Given the description of an element on the screen output the (x, y) to click on. 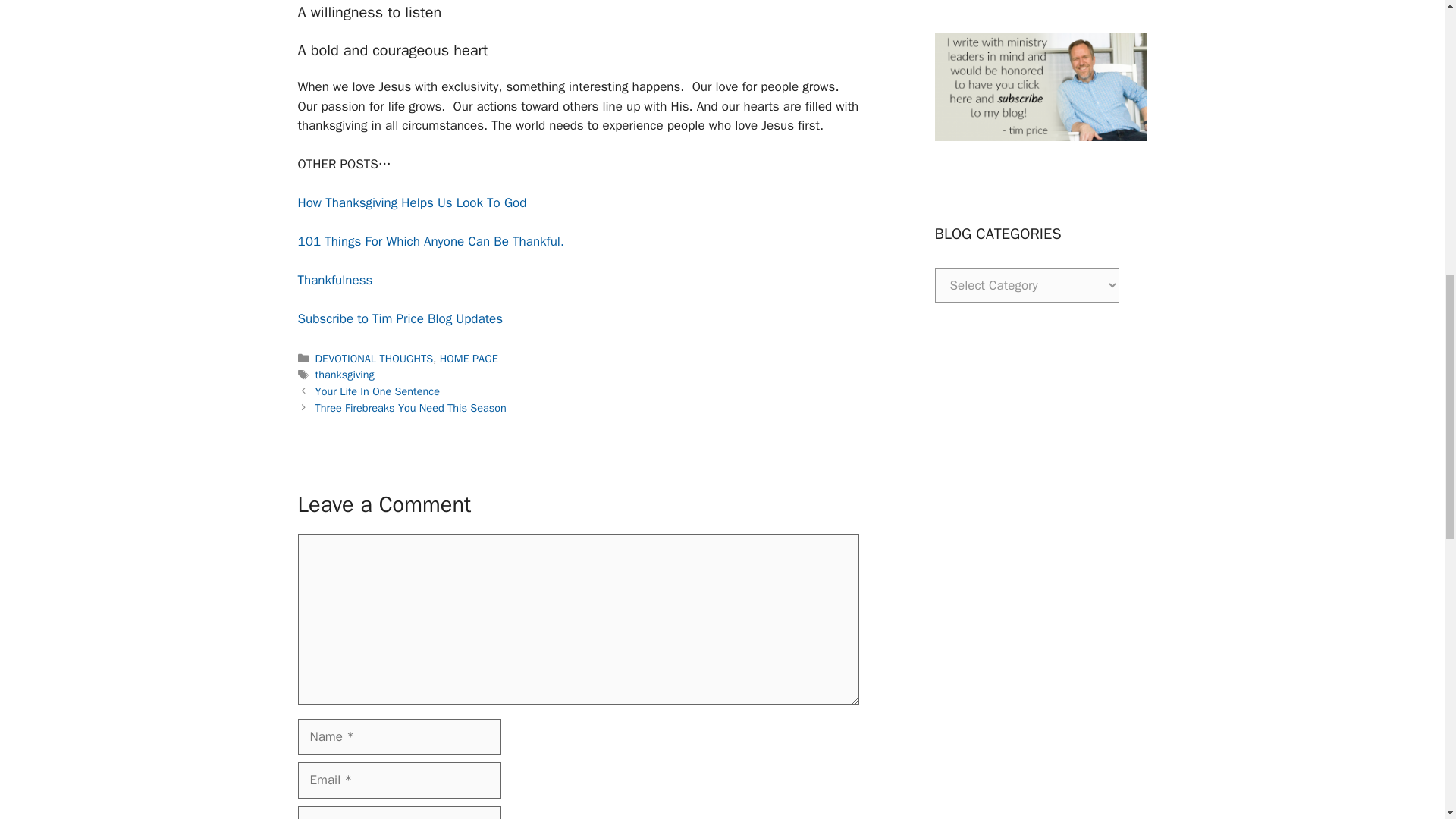
thanksgiving (344, 374)
How Thanksgiving Helps Us Look To God (411, 202)
Subscribe to Tim Price Blog Updates (399, 318)
101 Things For Which Anyone Can Be Thankful. (430, 241)
DEVOTIONAL THOUGHTS (374, 358)
Thankfulness (334, 279)
Three Firebreaks You Need This Season (410, 407)
Your Life In One Sentence (377, 391)
HOME PAGE (468, 358)
